Given the description of an element on the screen output the (x, y) to click on. 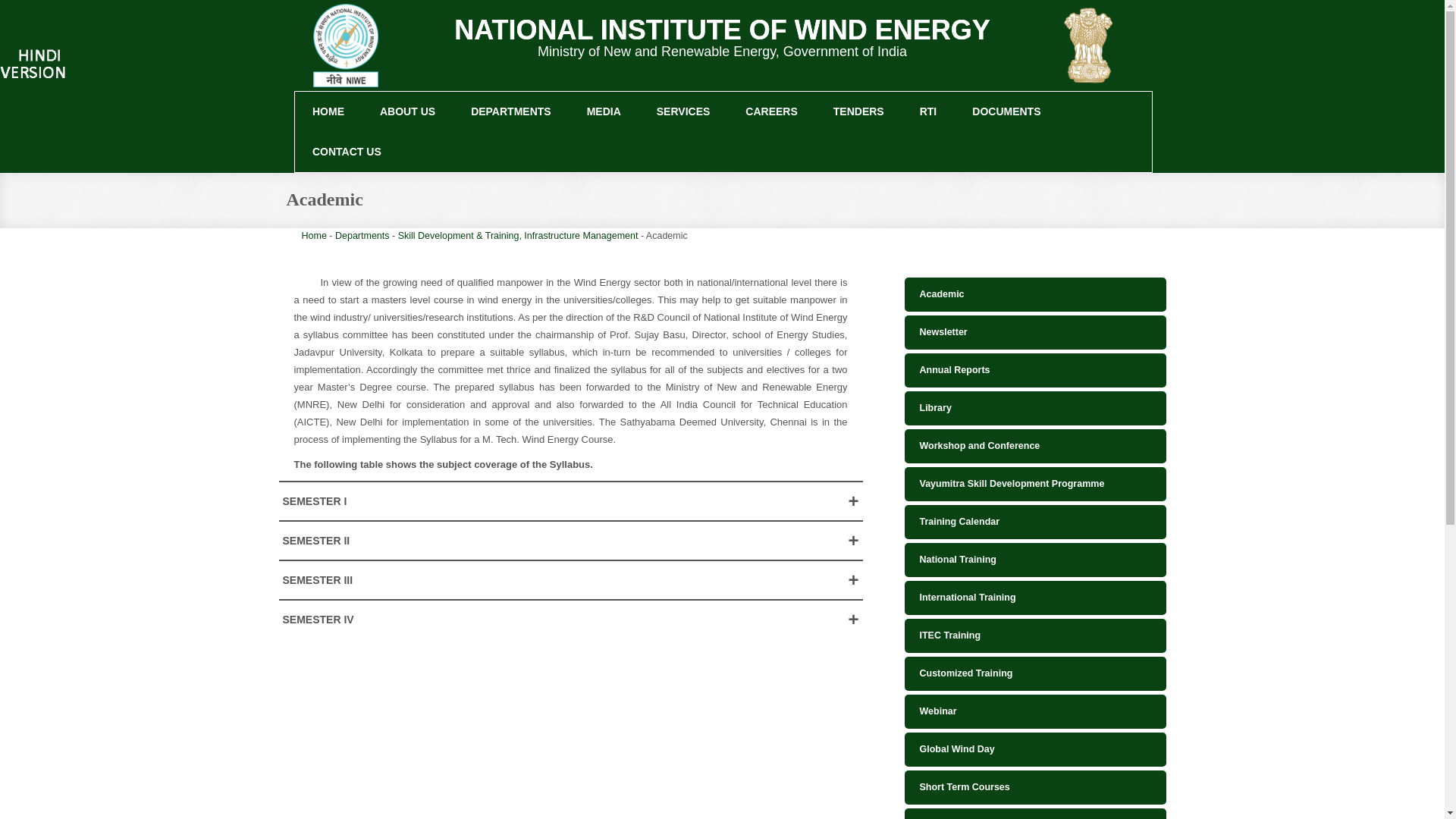
CAREERS (771, 111)
TENDERS (858, 111)
DEPARTMENTS (510, 111)
ABOUT US (407, 111)
National Portal of India (1100, 48)
RTI (928, 111)
SERVICES (683, 111)
MEDIA (604, 111)
DOCUMENTS (1006, 111)
National Institute of Wind Energy (357, 56)
